Given the description of an element on the screen output the (x, y) to click on. 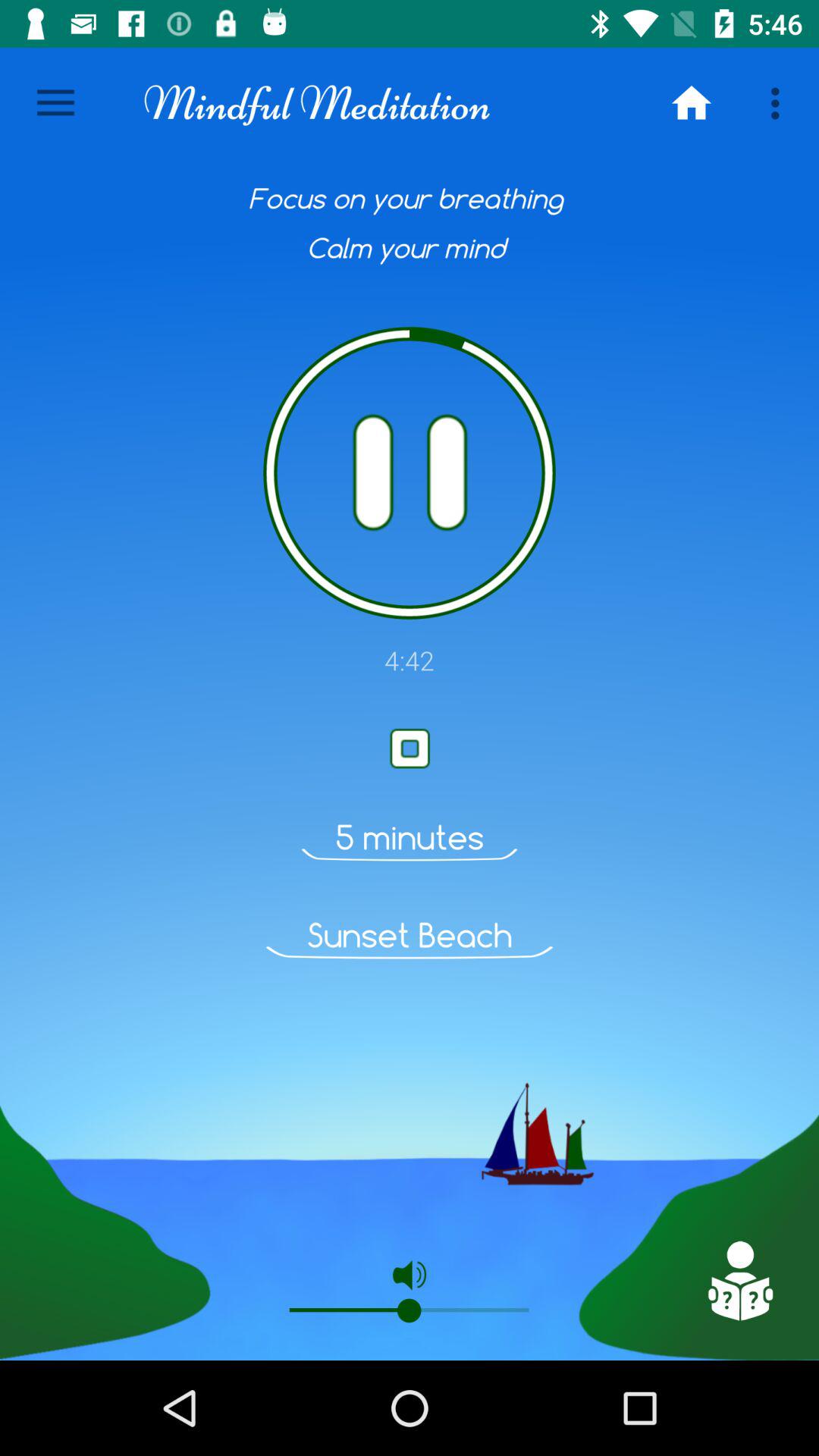
go back (739, 1280)
